Given the description of an element on the screen output the (x, y) to click on. 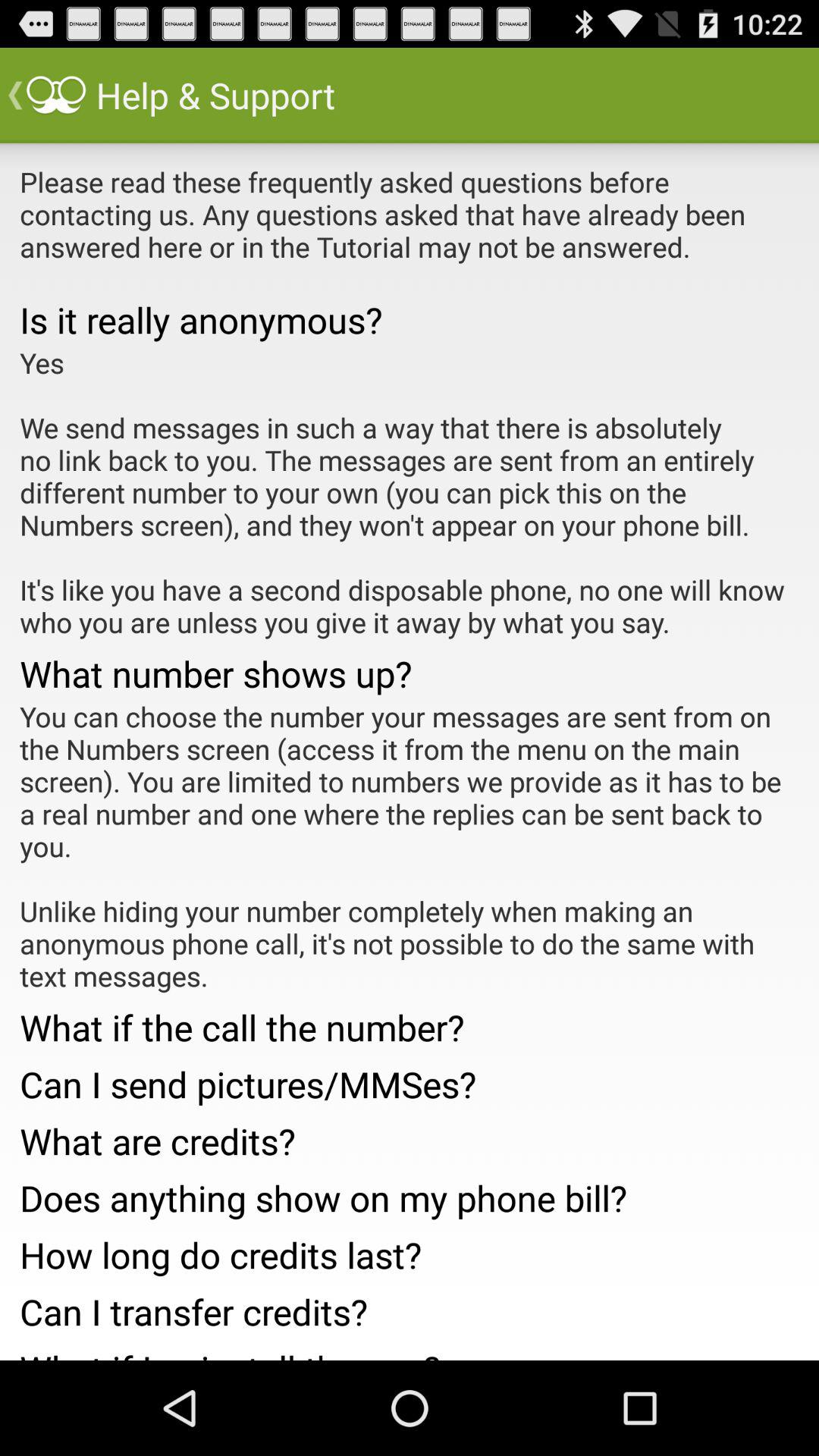
launch the you can choose (409, 845)
